Given the description of an element on the screen output the (x, y) to click on. 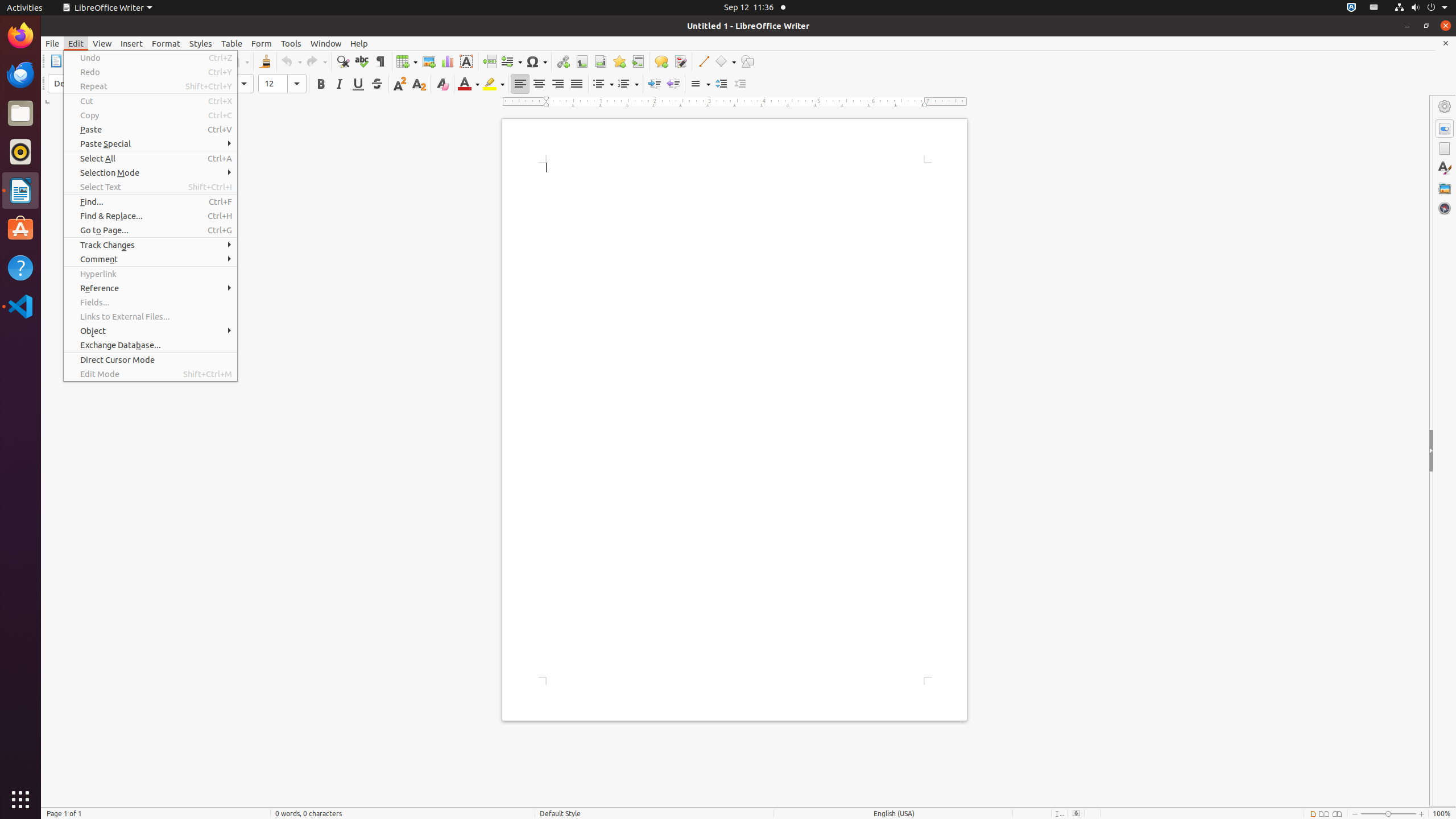
Bold Element type: toggle-button (320, 83)
